Given the description of an element on the screen output the (x, y) to click on. 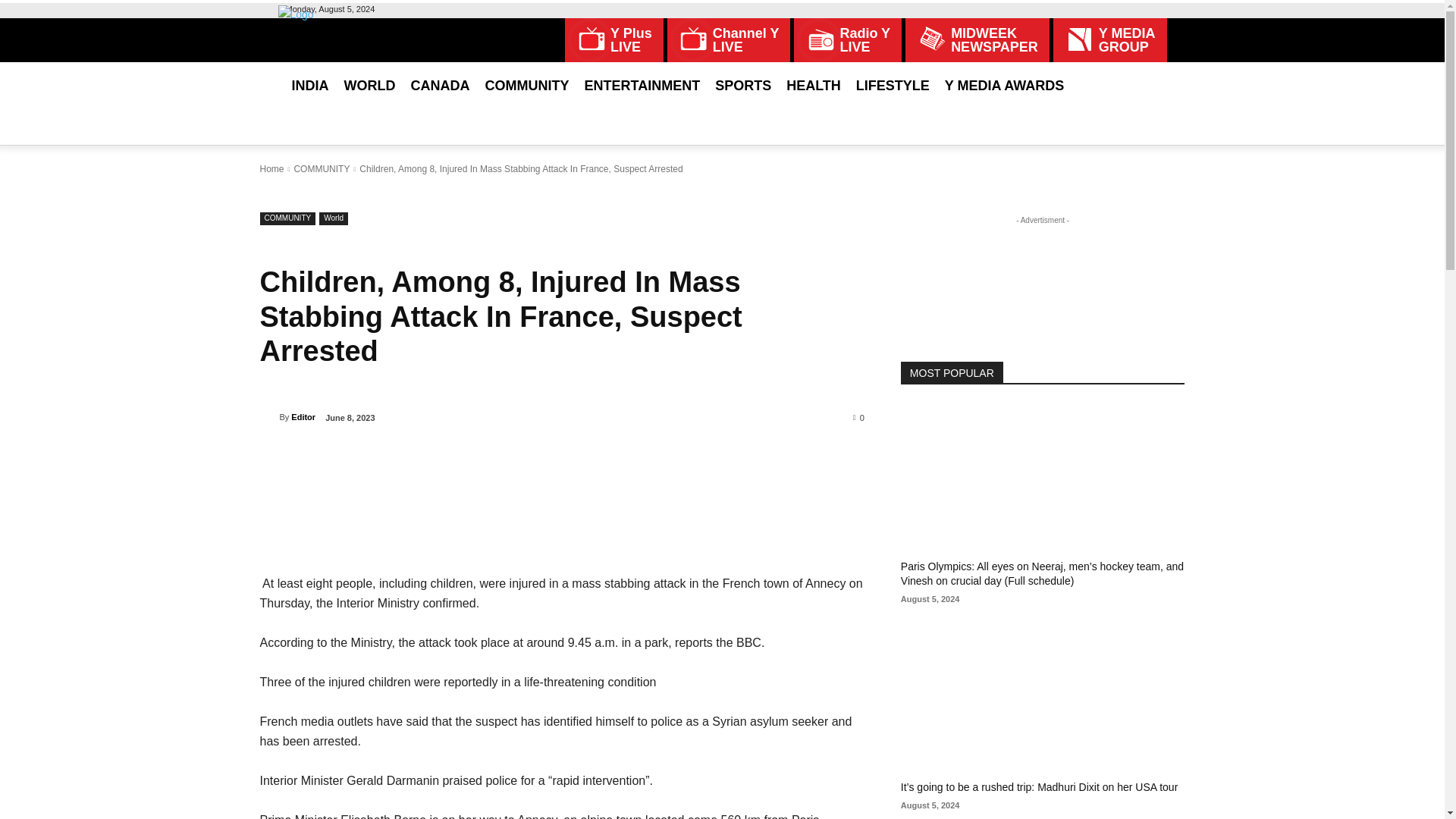
WORLD (847, 40)
INDIA (613, 40)
